Given the description of an element on the screen output the (x, y) to click on. 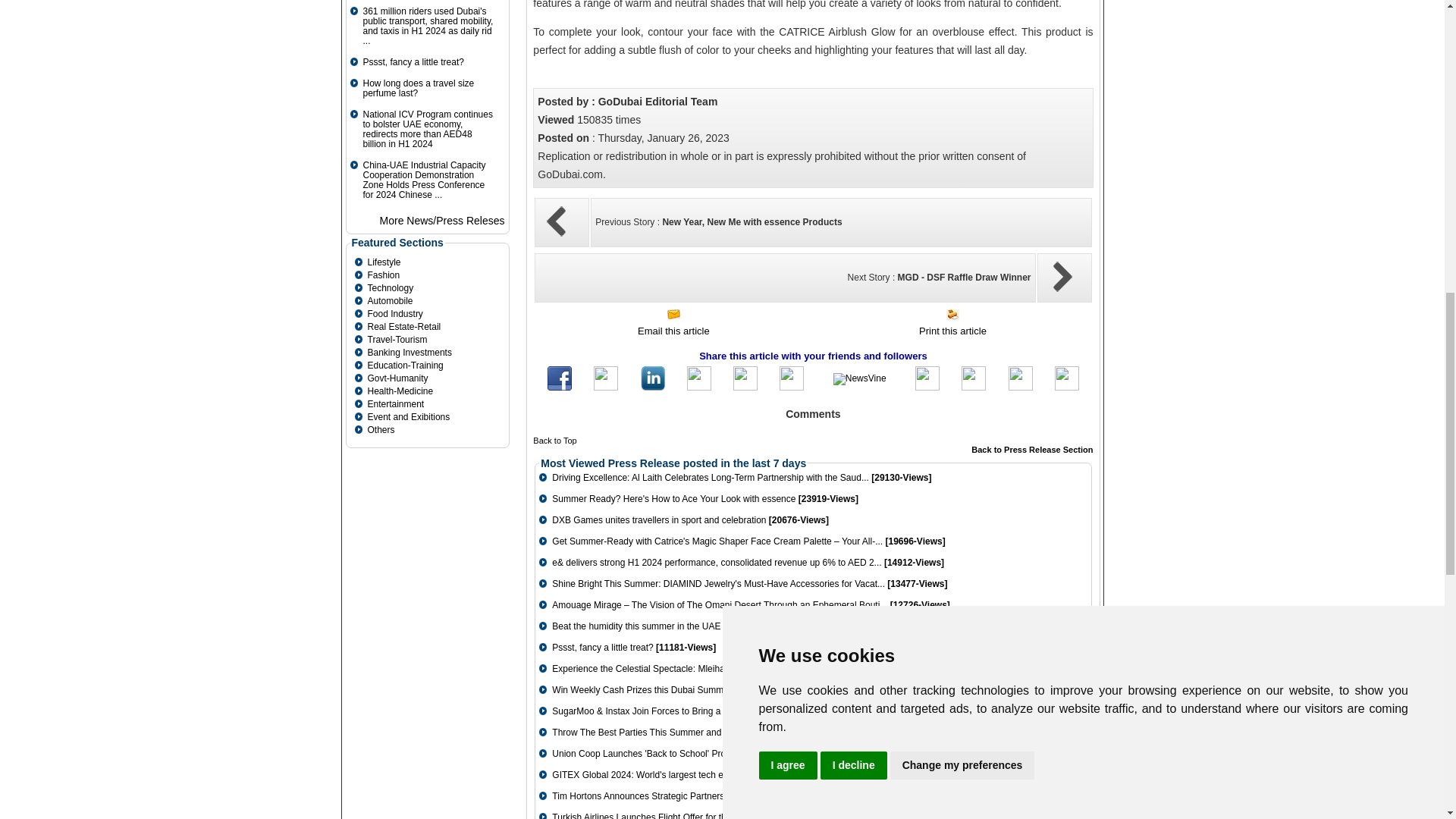
NewsVine (859, 378)
Facebook (559, 387)
Delicious (1020, 387)
Folkd (972, 387)
Linkedin (652, 387)
Reddit (927, 387)
Twitter (605, 387)
NewsVine (859, 378)
Digg (790, 387)
MySpace (699, 387)
